Given the description of an element on the screen output the (x, y) to click on. 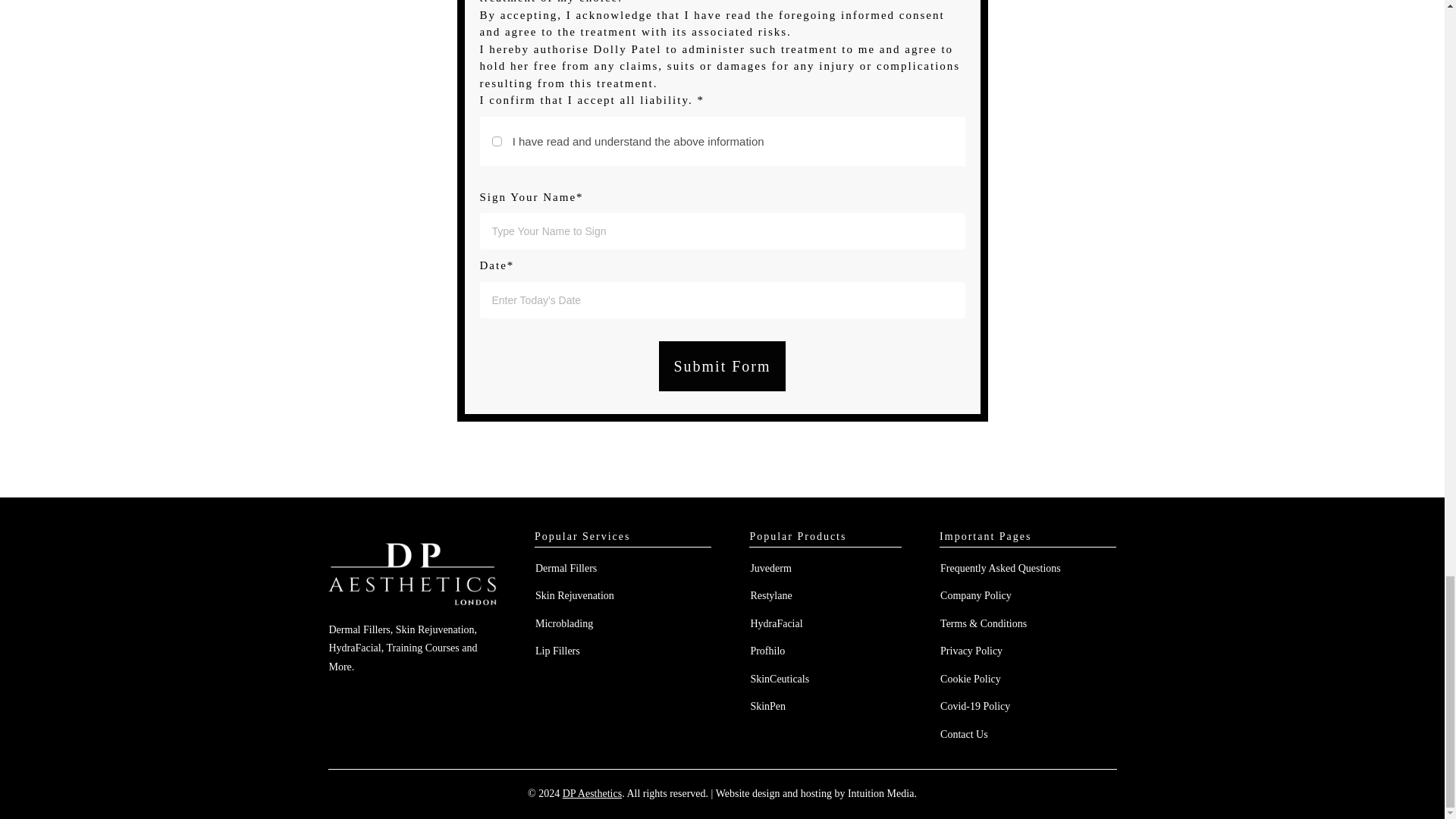
Website design and hosting by Intuition Media (815, 793)
Cookie Policy (970, 678)
HydraFacial (775, 623)
Restylane (770, 595)
SkinCeuticals (779, 678)
SkinPen (767, 706)
Lip Fillers (557, 650)
Company Policy (975, 595)
Skin Rejuvenation (574, 595)
DP Aesthetics (591, 793)
